Given the description of an element on the screen output the (x, y) to click on. 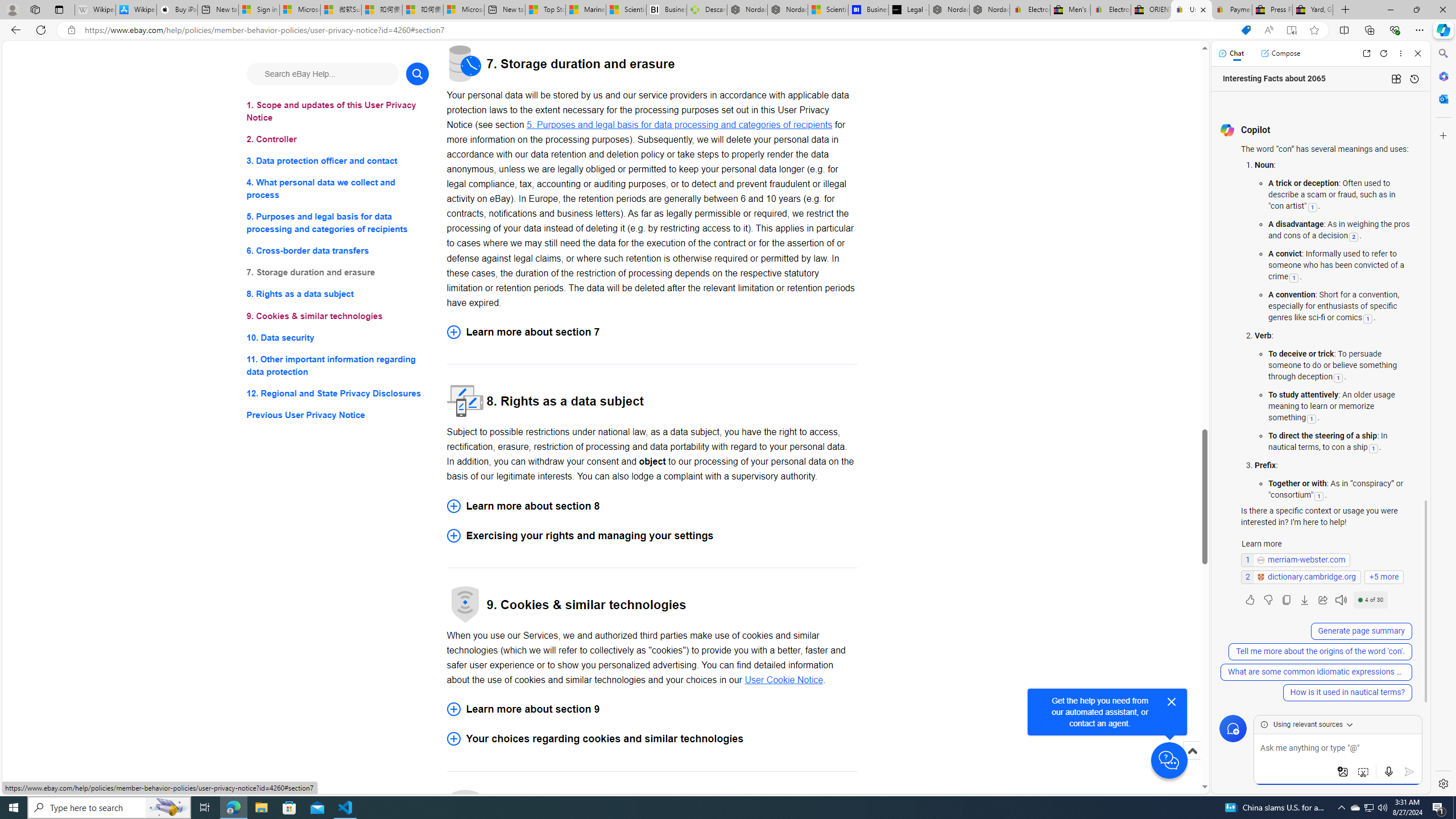
Press Room - eBay Inc. (1272, 9)
This site has coupons! Shopping in Microsoft Edge (1245, 29)
Learn more about section 7 (651, 331)
3. Data protection officer and contact (337, 160)
Sign in to your Microsoft account (258, 9)
User Cookie Notice (784, 679)
2. Controller (337, 138)
1. Scope and updates of this User Privacy Notice (337, 111)
Previous User Privacy Notice (337, 414)
